Given the description of an element on the screen output the (x, y) to click on. 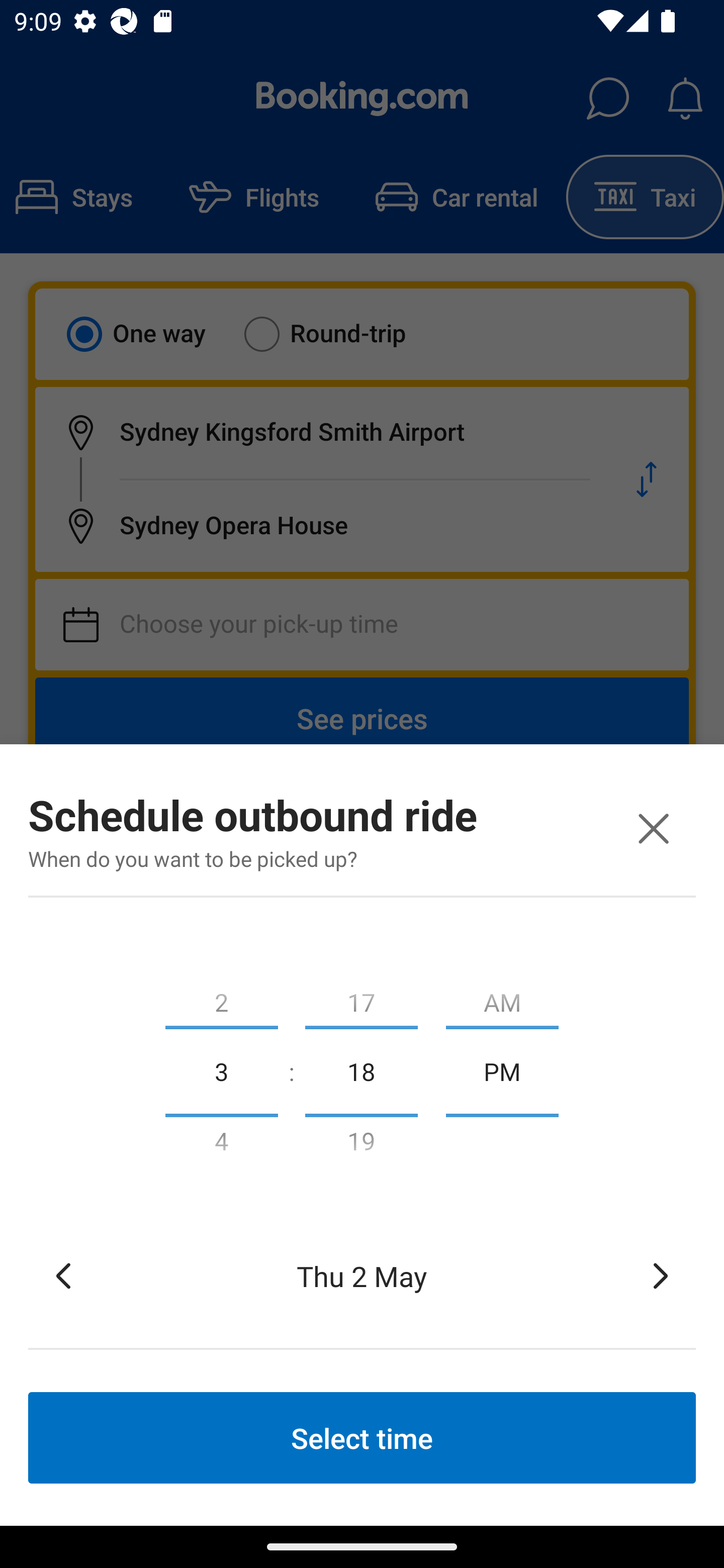
Close window (653, 828)
2 (221, 997)
17 (361, 997)
AM (501, 997)
3 (221, 1070)
18 (361, 1070)
PM (501, 1070)
4 (221, 1144)
19 (361, 1144)
Tap to move back to the previous date (63, 1275)
Tap to move forward to the next date (660, 1275)
Thu 2 May Selected date, Thursday, 2 May (361, 1275)
Select time (361, 1437)
